Given the description of an element on the screen output the (x, y) to click on. 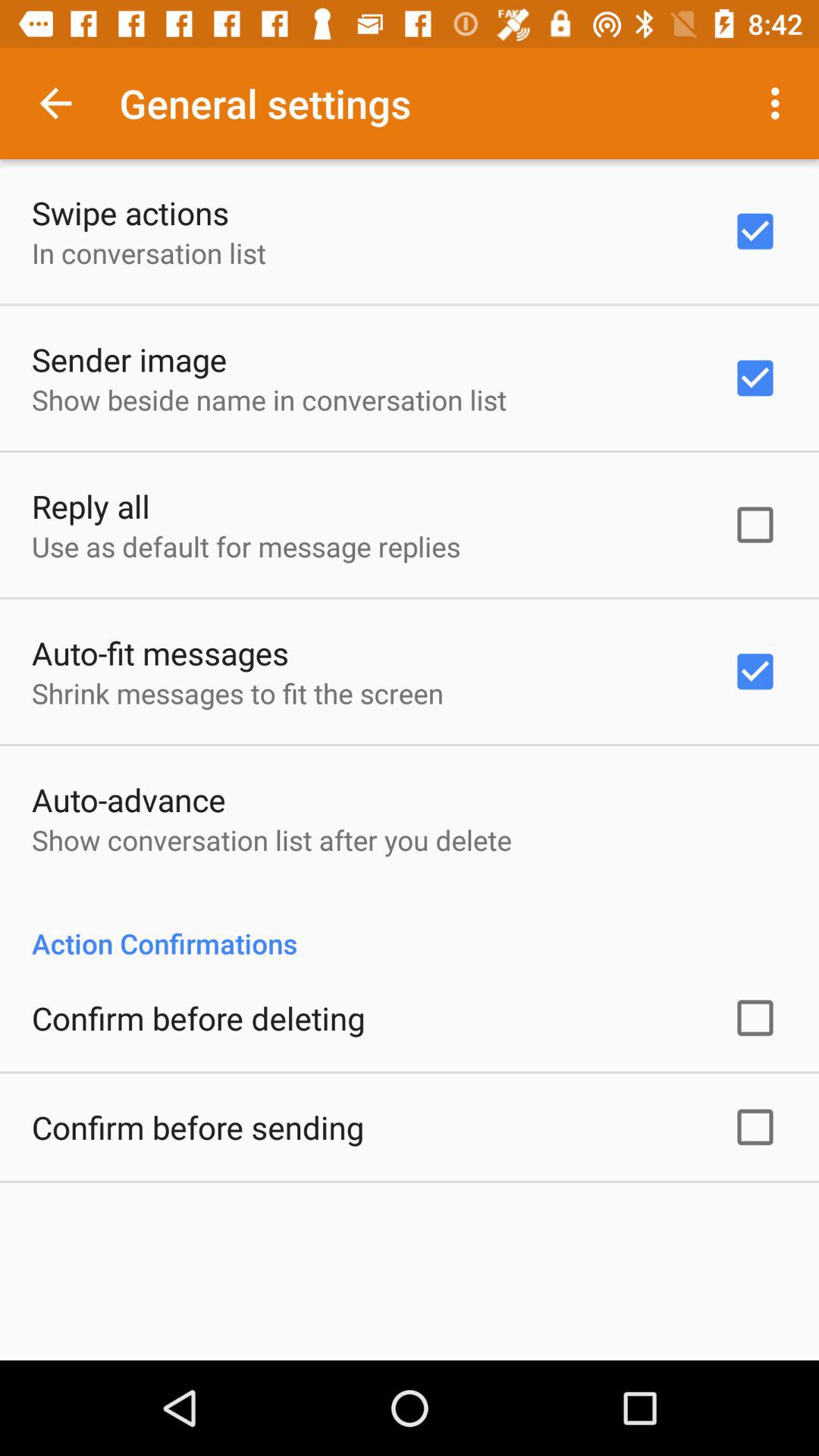
open the swipe actions icon (130, 212)
